Given the description of an element on the screen output the (x, y) to click on. 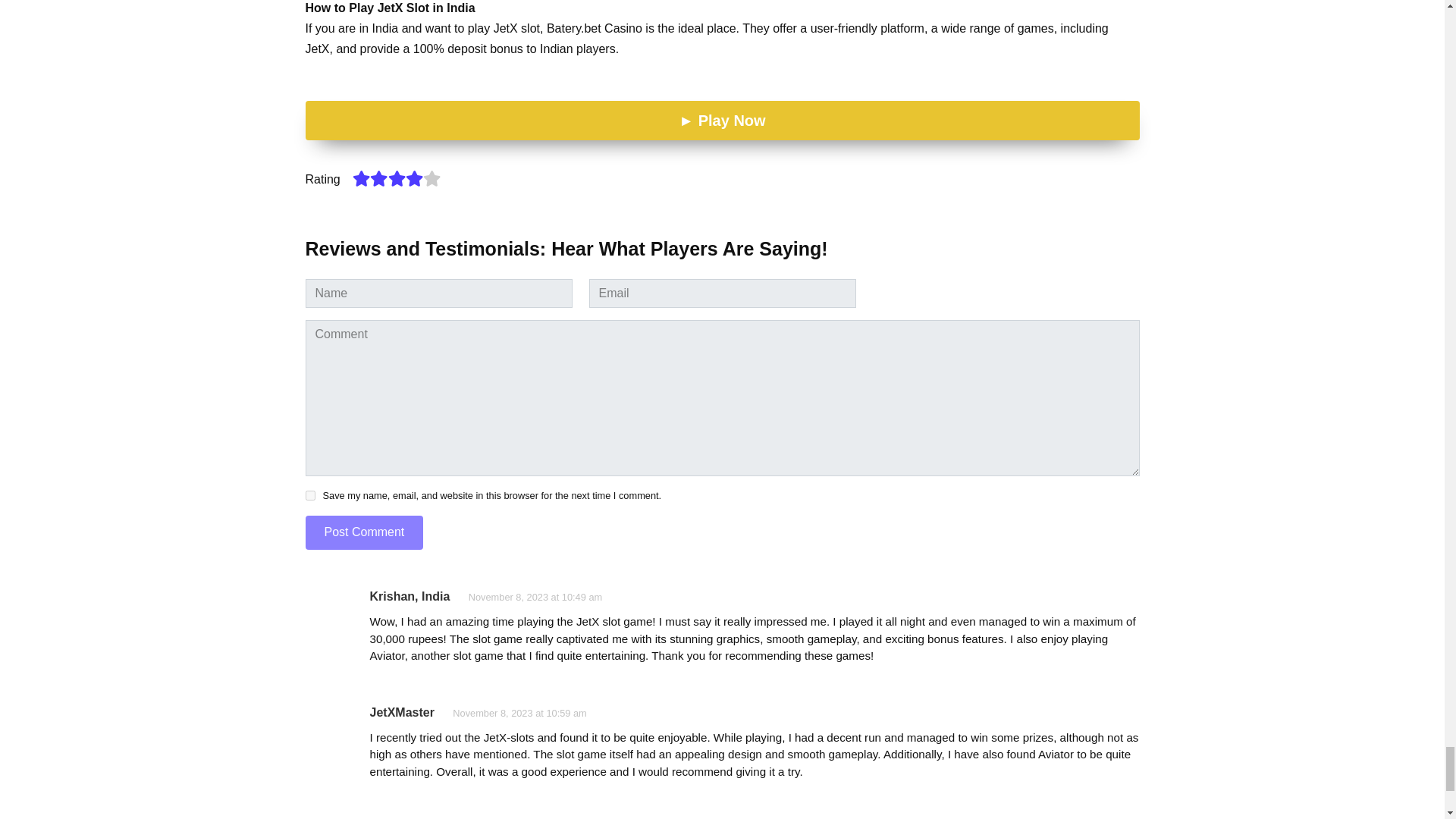
Post Comment (363, 532)
yes (309, 495)
